Given the description of an element on the screen output the (x, y) to click on. 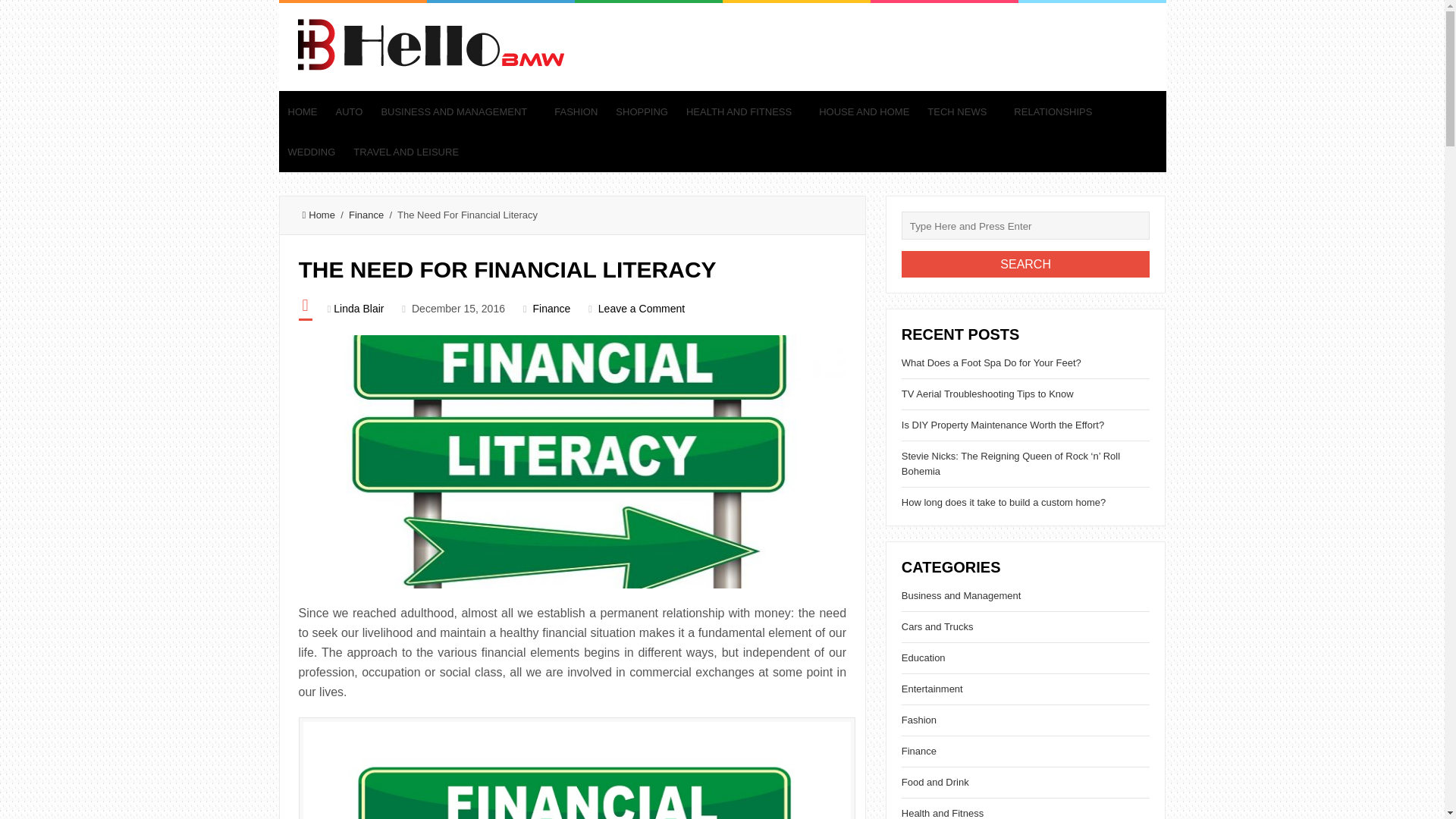
Leave a Comment (641, 308)
What Does a Foot Spa Do for Your Feet? (991, 362)
HOUSE AND HOME (863, 111)
HOME (302, 111)
SHOPPING (642, 111)
Home (317, 214)
Search (1025, 263)
Linda Blair (358, 308)
Finance (366, 214)
Posts by Linda Blair (358, 308)
